Given the description of an element on the screen output the (x, y) to click on. 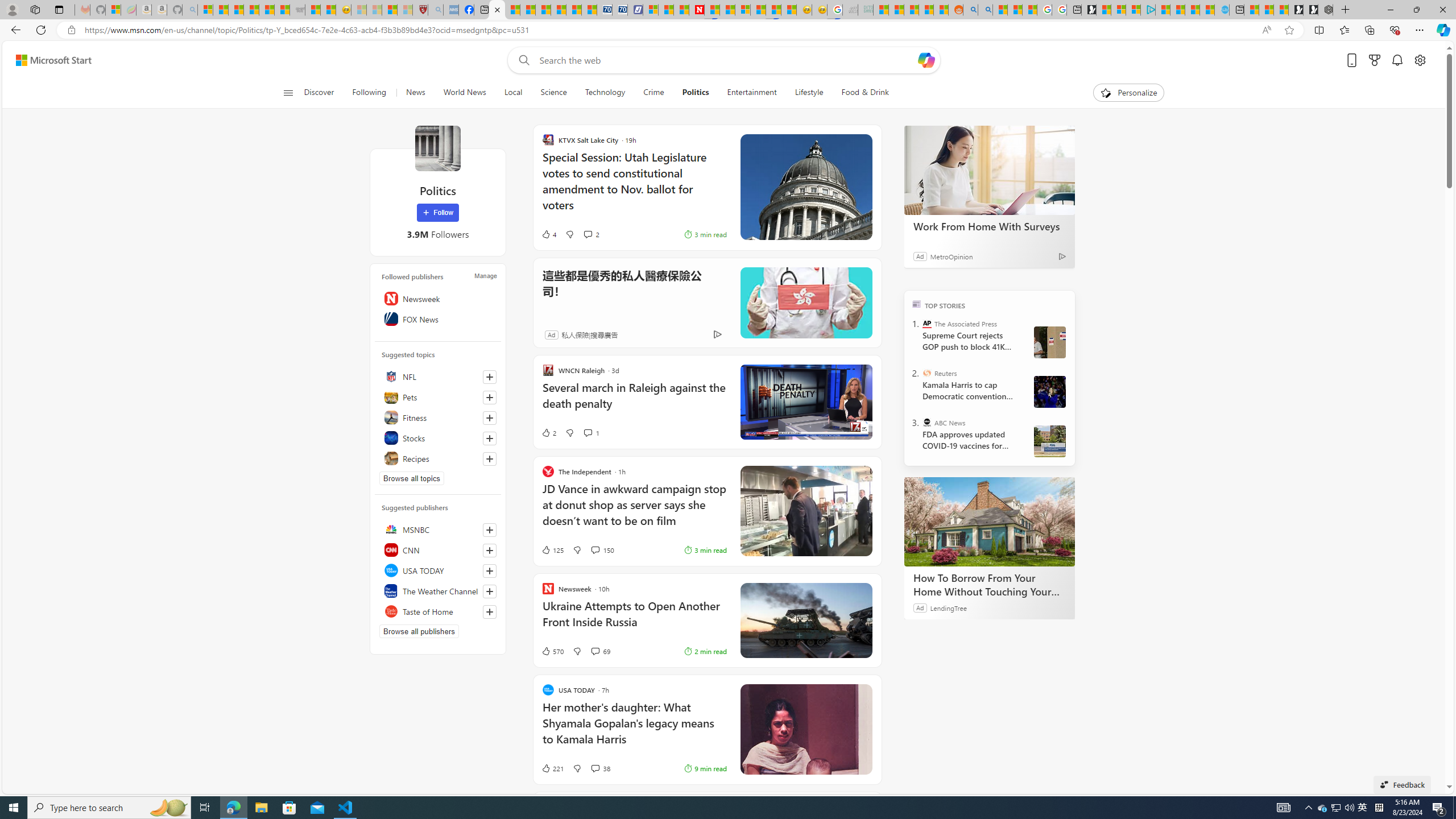
125 Like (551, 549)
Follow this source (489, 612)
View comments 38 Comment (594, 768)
View comments 38 Comment (599, 768)
Browse all topics (412, 477)
